Given the description of an element on the screen output the (x, y) to click on. 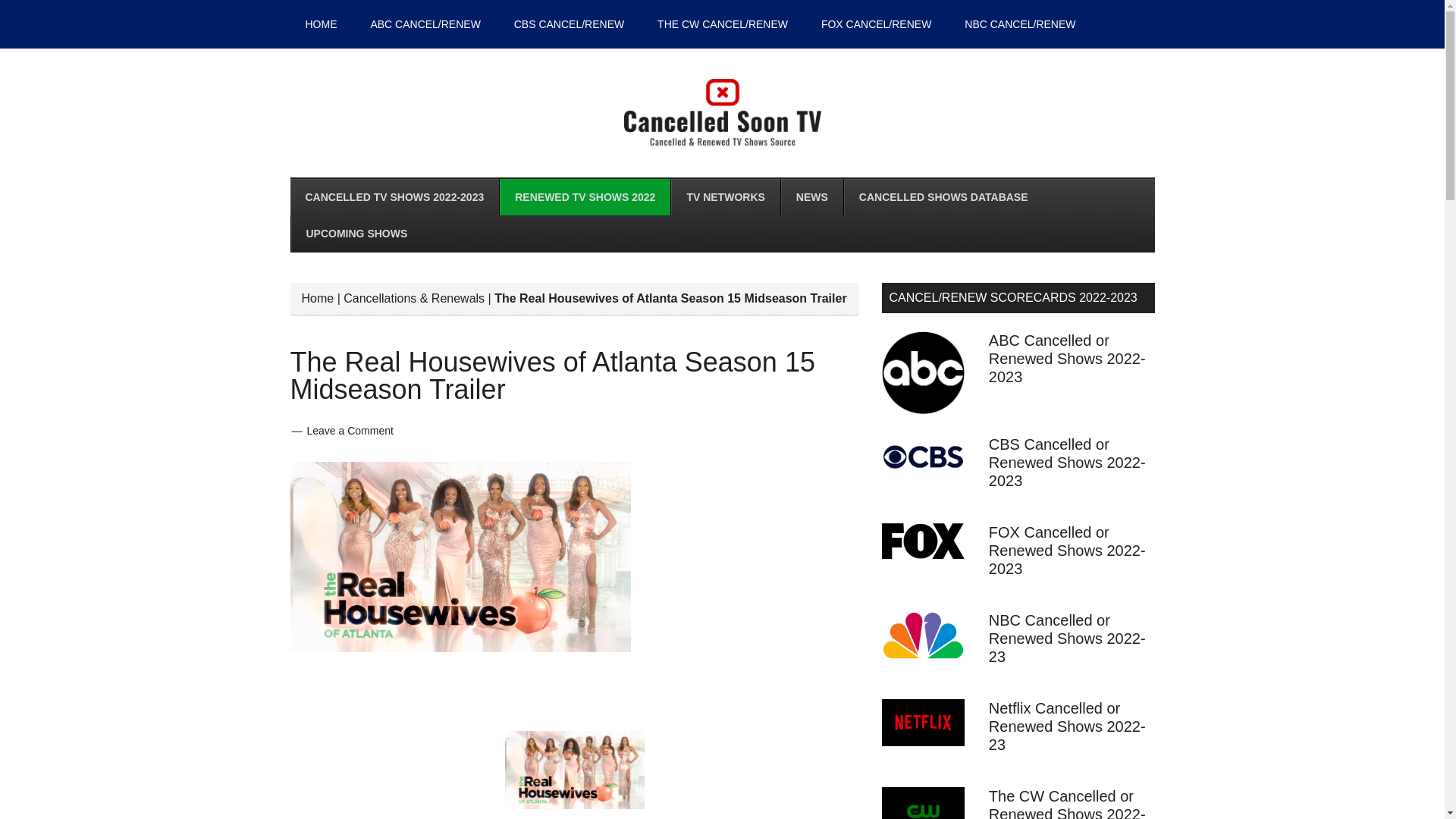
ABC Cancelled or Renewed Shows 2022-2023 (1066, 358)
Home (317, 297)
TV NETWORKS (723, 197)
NEWS (811, 197)
RENEWED TV SHOWS 2022 (584, 197)
Screenshot 2023-07-10 171645 (459, 556)
CBS Cancelled or Renewed Shows 2022-2023 (1066, 461)
CANCELLED SHOWS DATABASE (943, 197)
FOX Cancelled or Renewed Shows 2022-2023 (1066, 550)
